Given the description of an element on the screen output the (x, y) to click on. 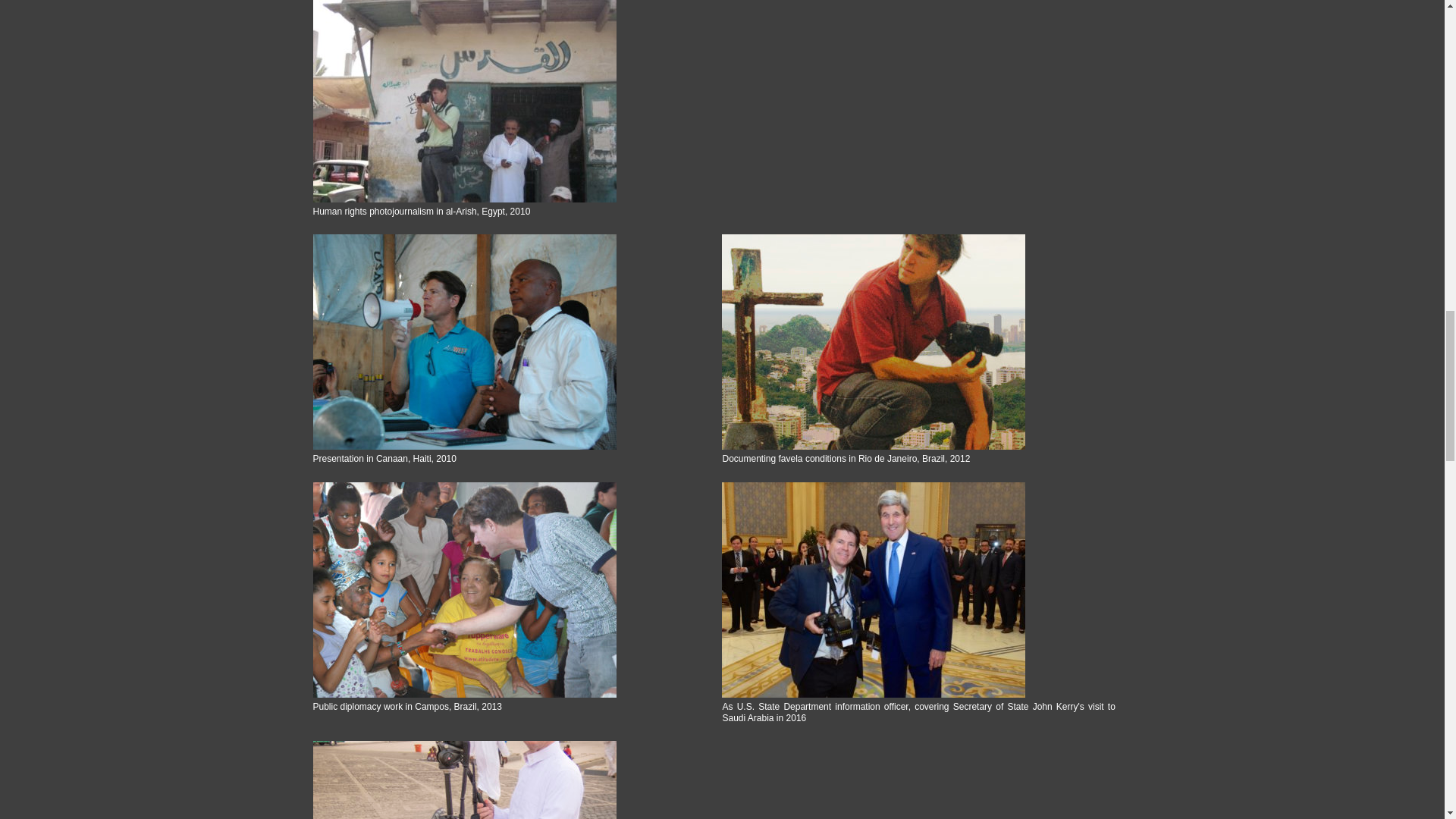
Jeddah, Saudi Arabia, 2015 (508, 780)
Human rights photojournalism in al-Arish, Egypt, 2010 (508, 101)
Covering Secretary of State's visit to Saudi Arabia in 2016 (918, 589)
Public diplomacy work in Campos, Brazil, 2013 (508, 589)
Presentation in Canaan, Haiti, 2010 (508, 341)
